Given the description of an element on the screen output the (x, y) to click on. 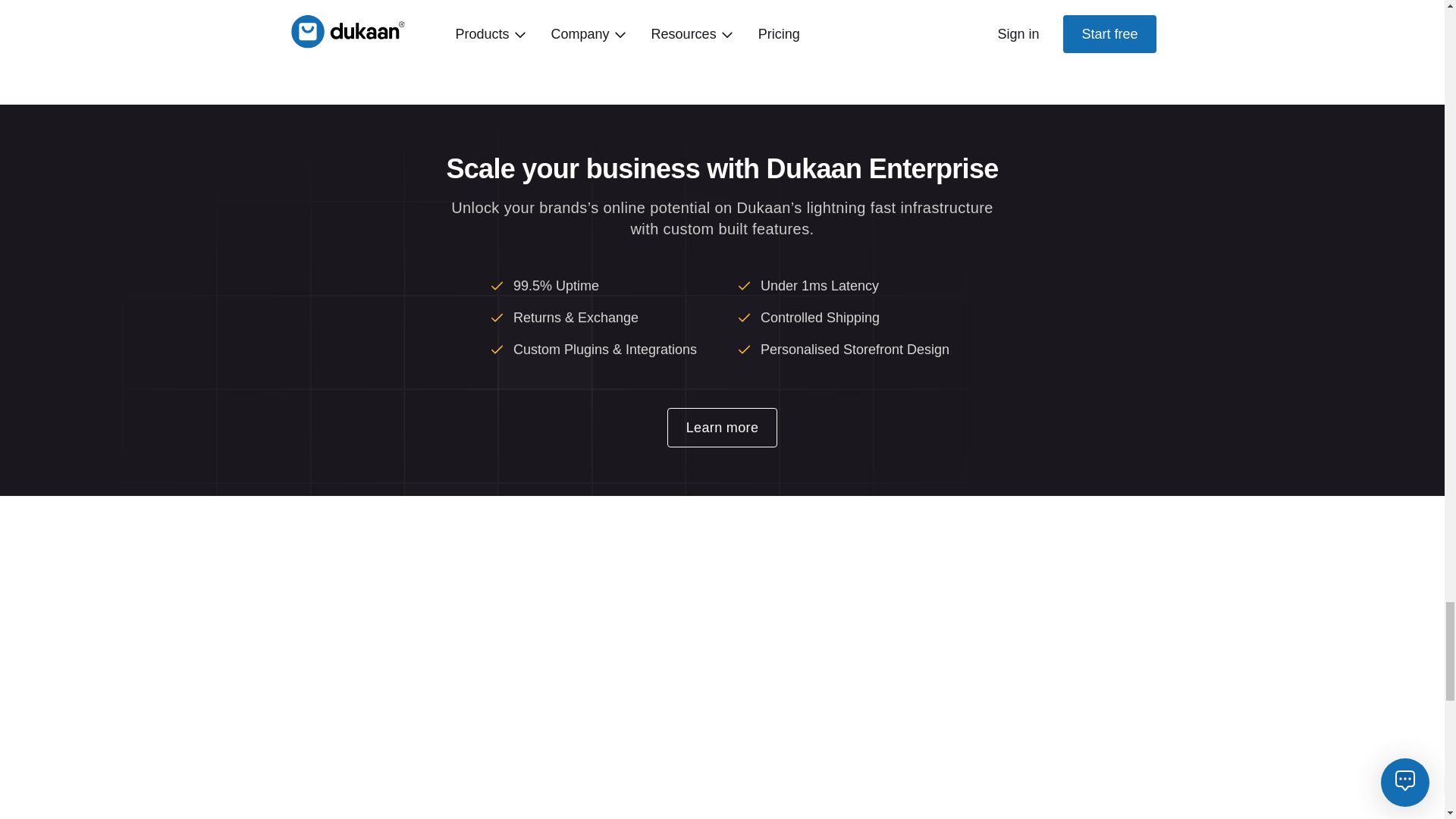
Learn more (721, 427)
